Given the description of an element on the screen output the (x, y) to click on. 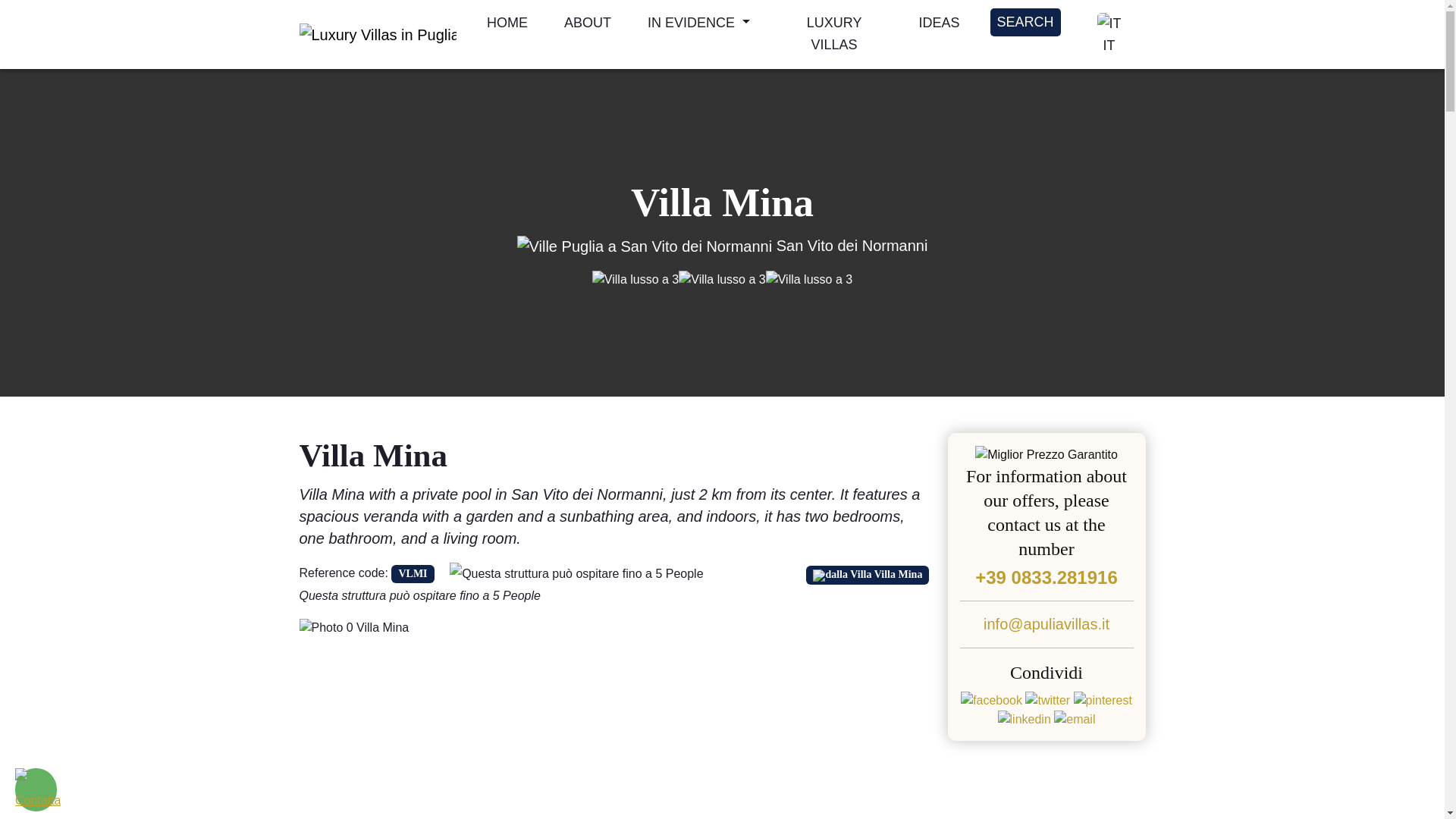
Luxury villas (587, 22)
IDEAS (939, 22)
LUXURY VILLAS (834, 33)
HOME (507, 22)
Luxury villas (834, 33)
Luxury villas (376, 34)
Ideas (939, 22)
Luxury villas (507, 22)
SEARCH (1025, 22)
ABOUT (587, 22)
Luxury villas (1025, 22)
IN EVIDENCE (698, 22)
IT (1109, 34)
